Given the description of an element on the screen output the (x, y) to click on. 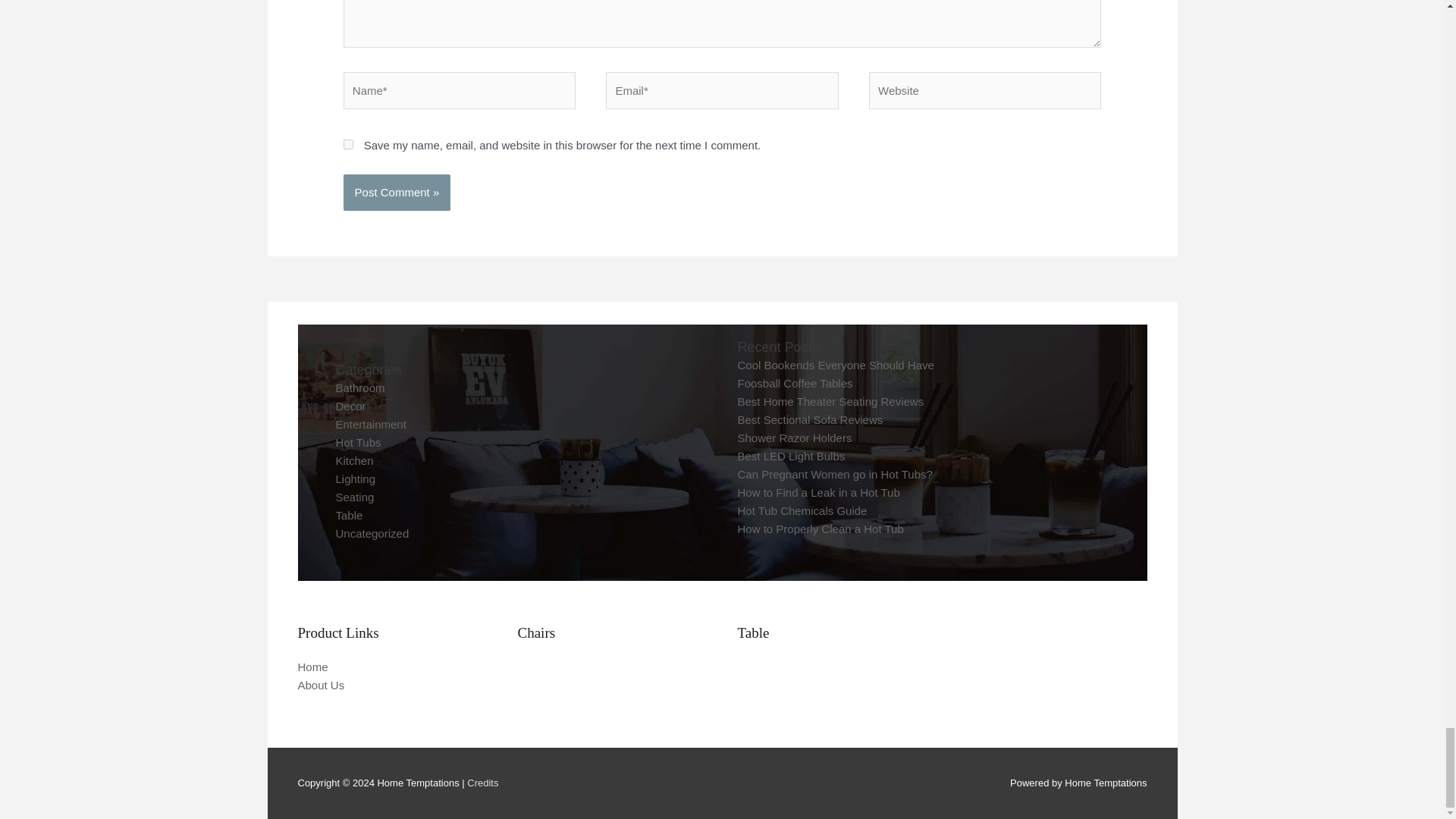
yes (348, 144)
